Given the description of an element on the screen output the (x, y) to click on. 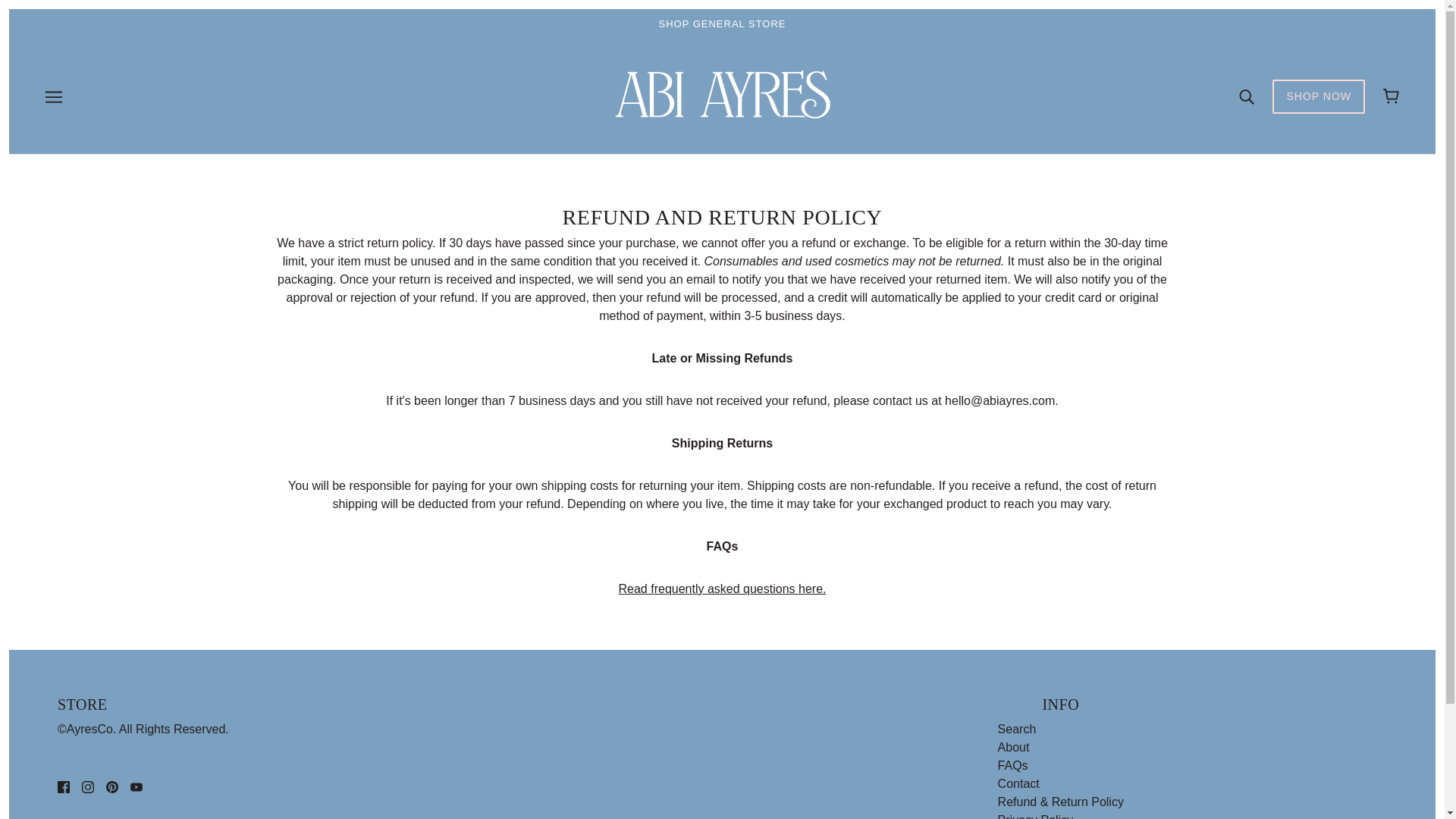
About (1013, 747)
SHOP GENERAL STORE (721, 24)
Contact (1018, 783)
FAQs (1012, 765)
FAQs (722, 588)
Privacy Policy (1035, 816)
Abi Ayres (722, 119)
